Given the description of an element on the screen output the (x, y) to click on. 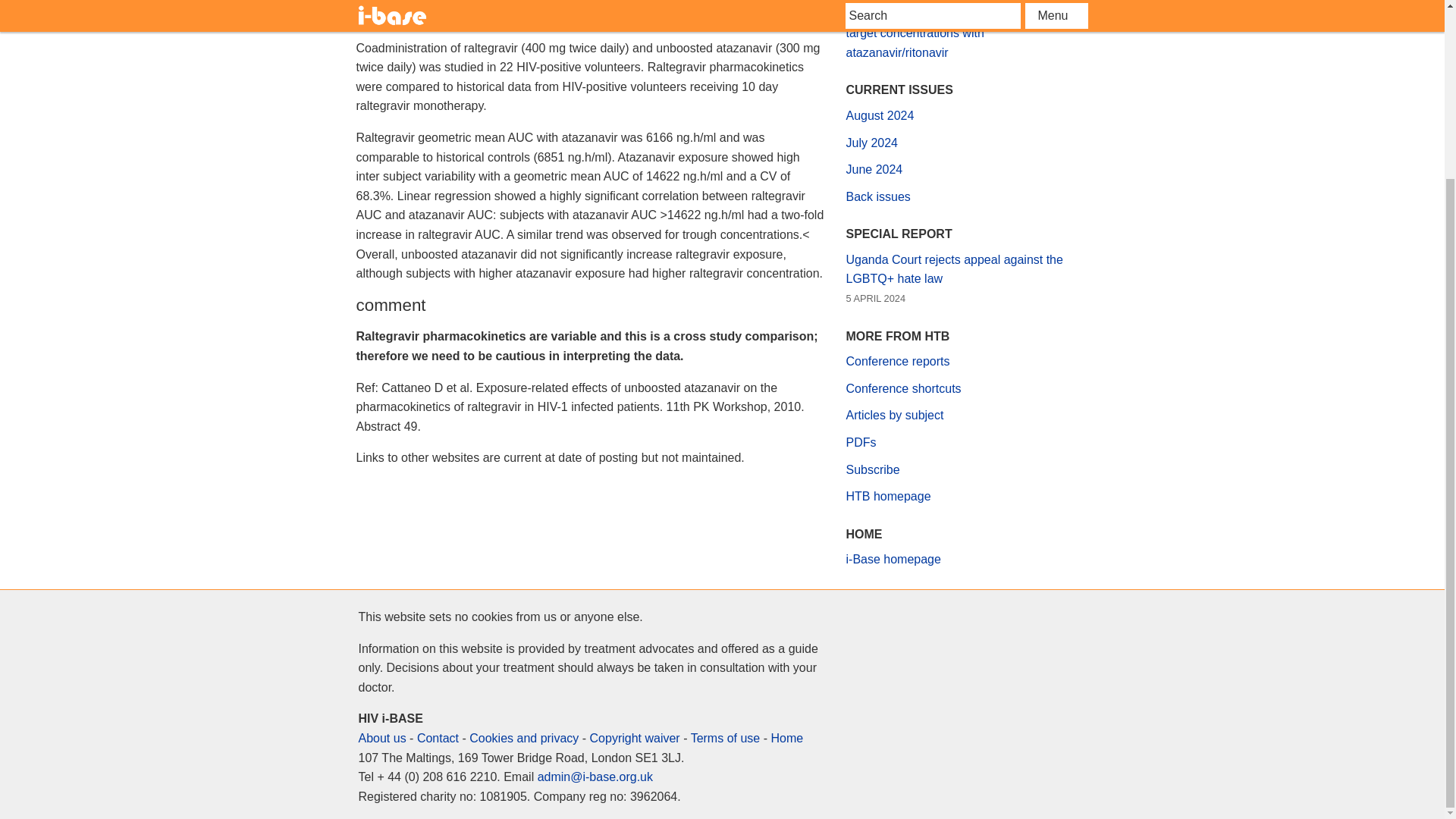
August 2024 (879, 115)
HTB homepage (888, 495)
About us (382, 738)
Conference shortcuts (902, 388)
Home (786, 738)
Conference reports (897, 360)
Terms of use (725, 738)
i-Base homepage (892, 558)
Cookies and privacy (523, 738)
Articles by subject (894, 414)
